Given the description of an element on the screen output the (x, y) to click on. 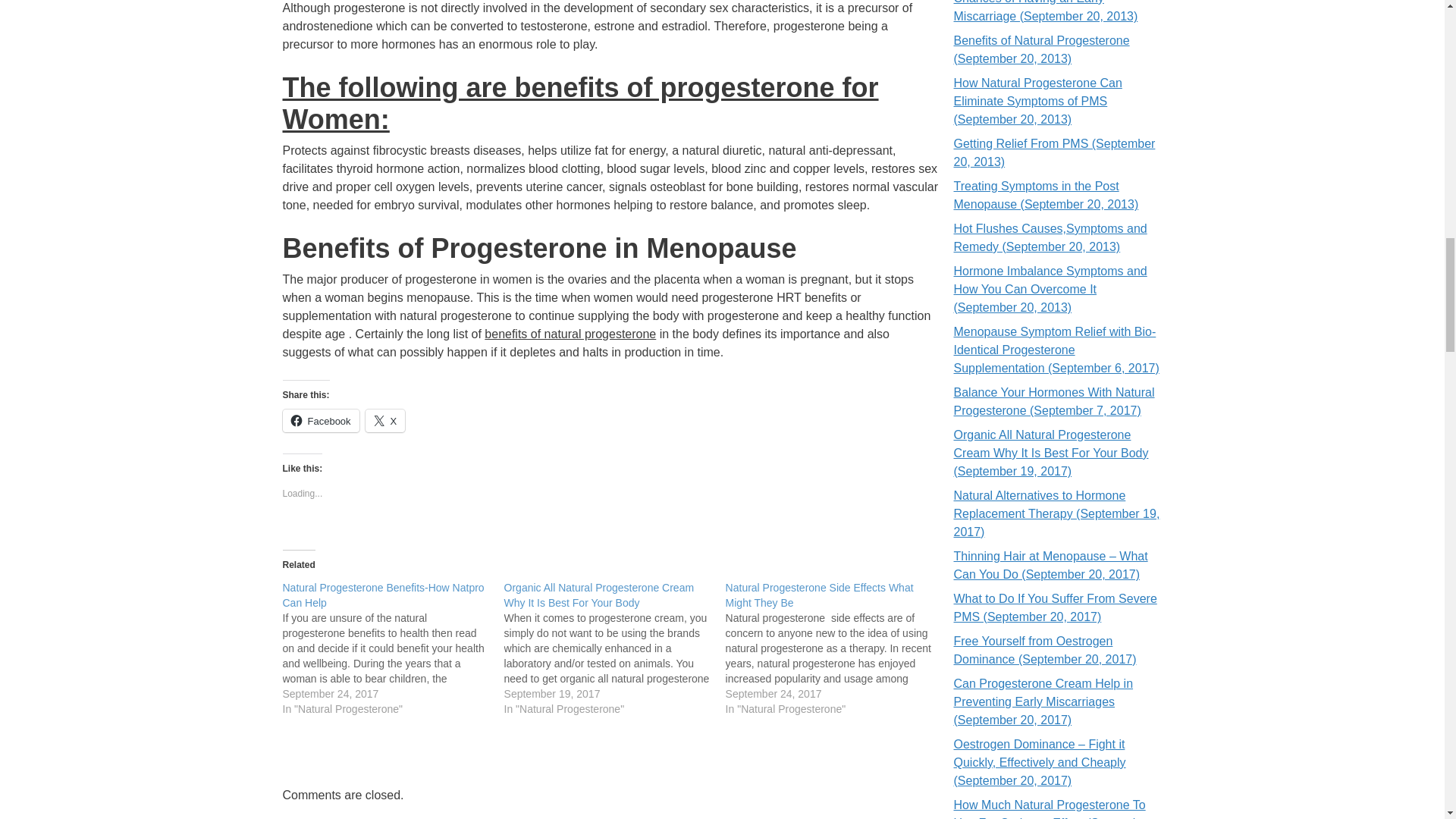
Natural Progesterone Benefits-How Natpro Can Help (392, 647)
Natural Progesterone Benefits-How Natpro Can Help (382, 595)
Click to share on X (385, 420)
Click to share on Facebook (320, 420)
Facebook (320, 420)
X (385, 420)
Natural Progesterone Side Effects What Might They Be (819, 595)
Natural Progesterone Benefits-How Natpro Can Help (382, 595)
